Given the description of an element on the screen output the (x, y) to click on. 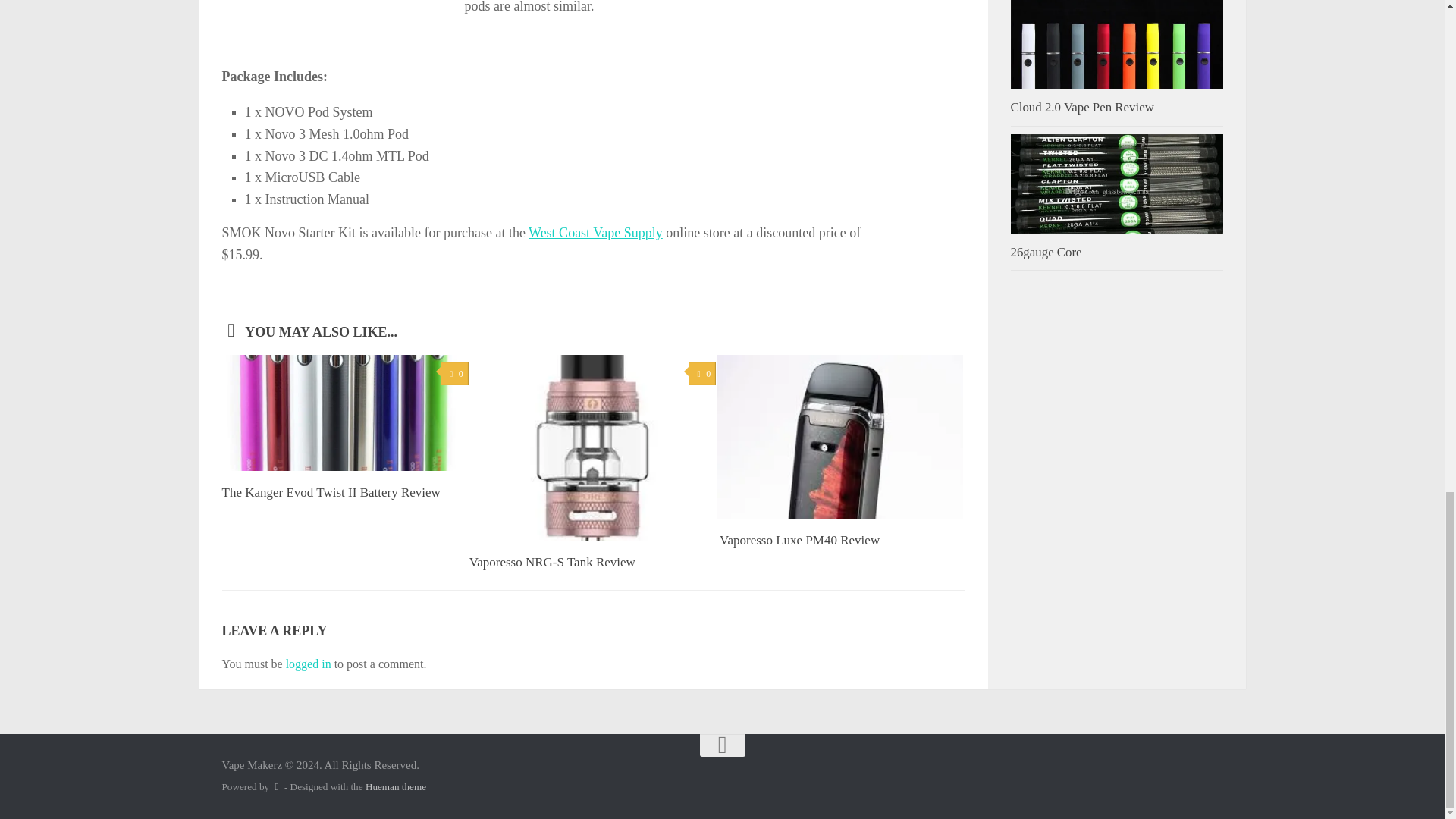
0 (702, 373)
 Vaporesso Luxe PM40 Review (797, 540)
The Kanger Evod Twist II Battery Review (330, 492)
West Coast Vape Supply (595, 232)
logged in (308, 663)
Hueman theme (395, 786)
0 (454, 373)
Powered by WordPress (275, 786)
Vaporesso NRG-S Tank Review (551, 562)
